Given the description of an element on the screen output the (x, y) to click on. 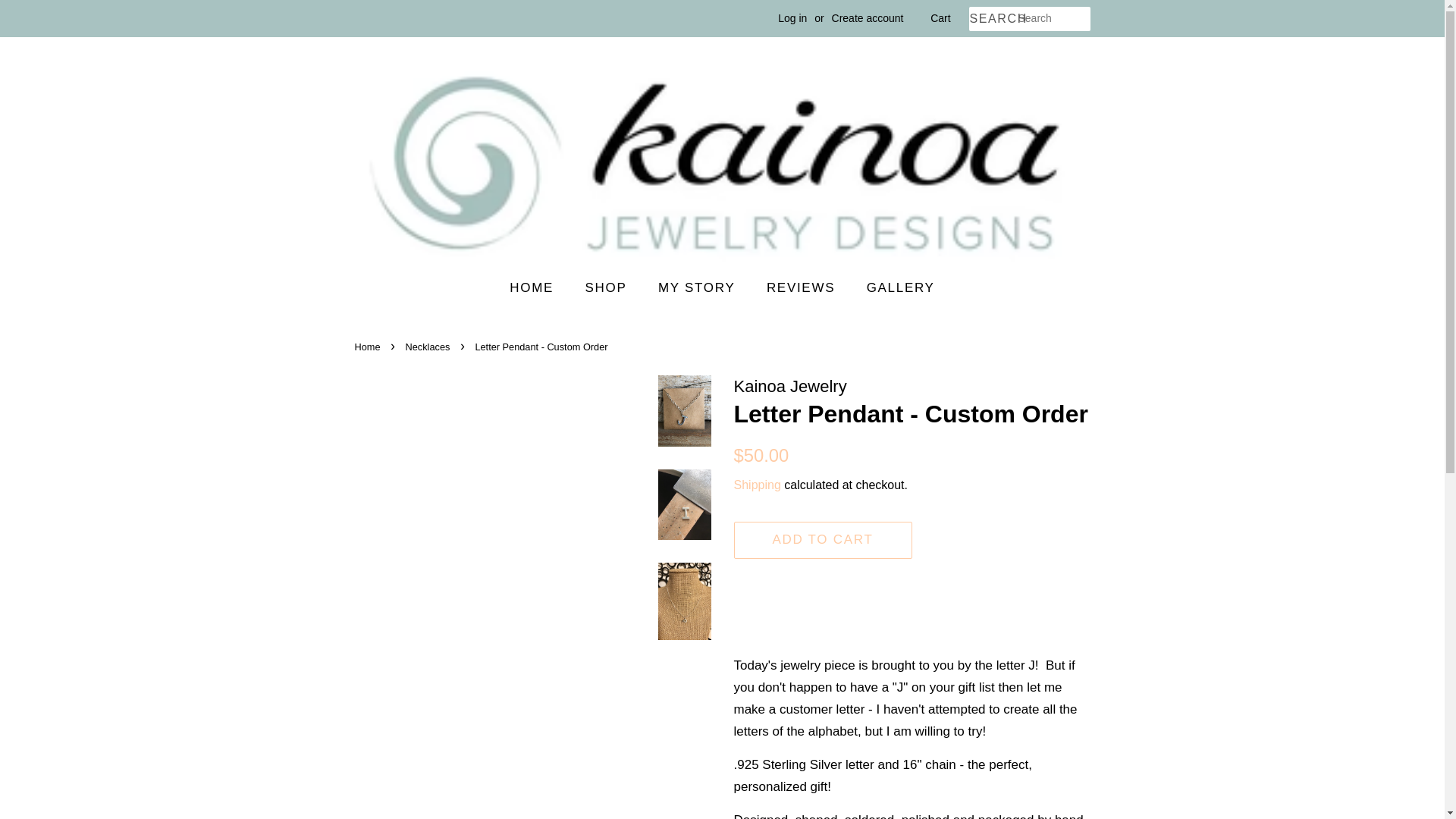
SEARCH (993, 18)
MY STORY (697, 287)
Necklaces (430, 346)
Cart (940, 18)
SHOP (607, 287)
Shipping (756, 484)
Back to the frontpage (369, 346)
GALLERY (895, 287)
Create account (867, 18)
ADD TO CART (822, 539)
